Given the description of an element on the screen output the (x, y) to click on. 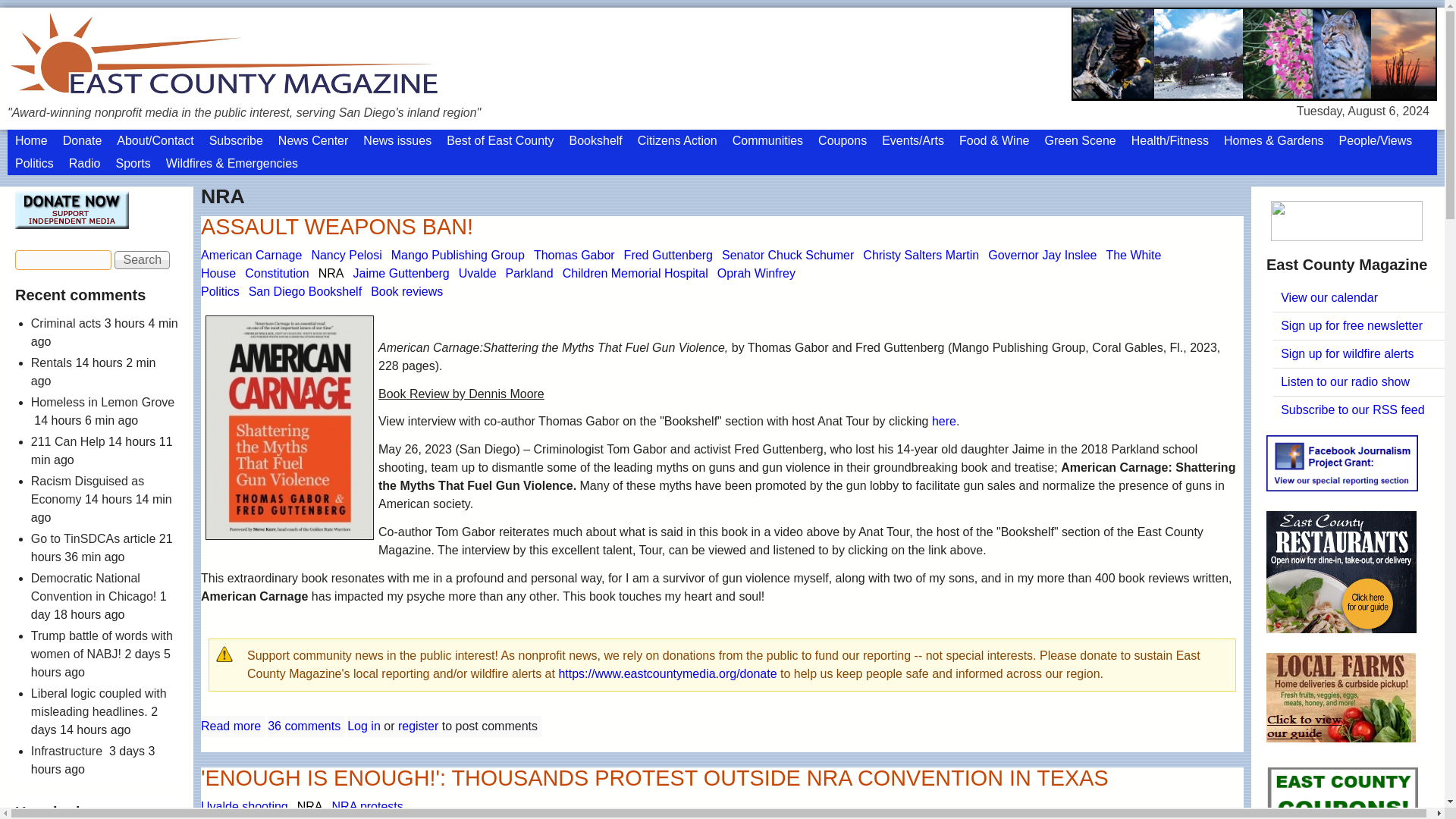
News Center (312, 140)
Search (142, 259)
News issues (397, 140)
Donate (82, 140)
Home (31, 140)
Subscribe (236, 140)
Best of East County (499, 140)
